Given the description of an element on the screen output the (x, y) to click on. 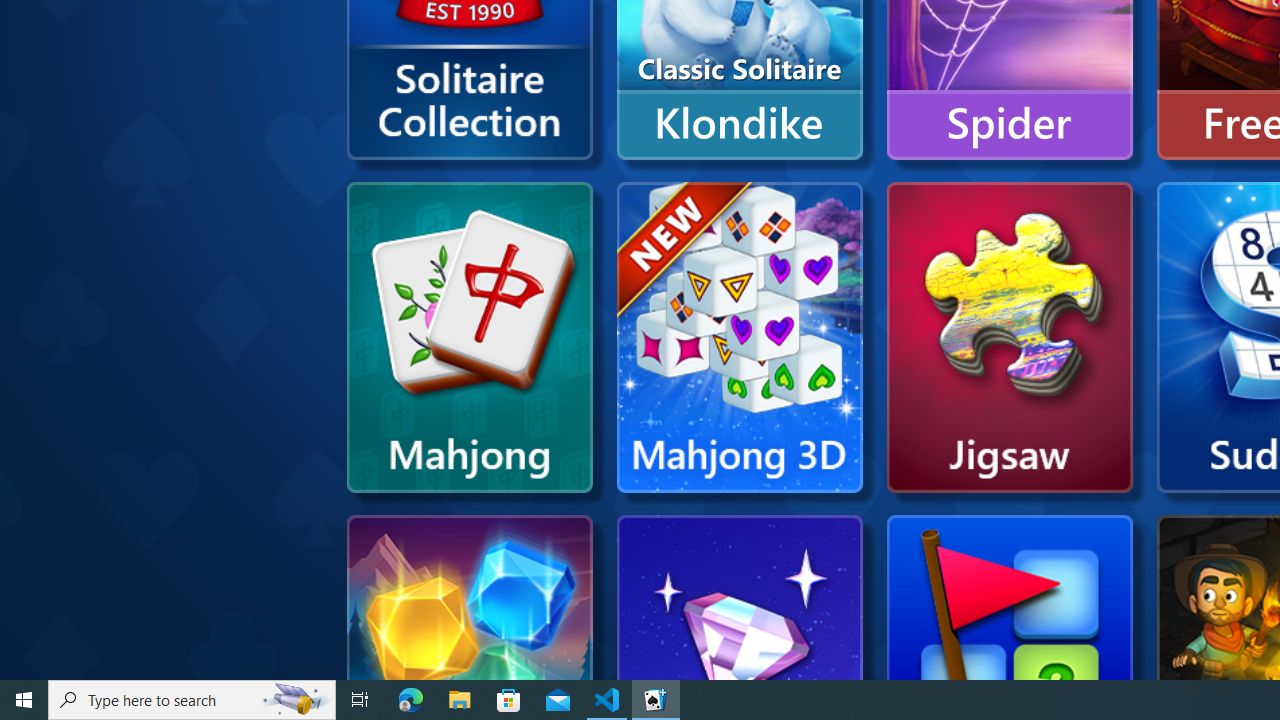
Microsoft Mahjong (469, 337)
Solitaire & Casual Games - 1 running window (656, 699)
Mahjong 3D (739, 337)
Microsoft Jigsaw (1009, 337)
